Given the description of an element on the screen output the (x, y) to click on. 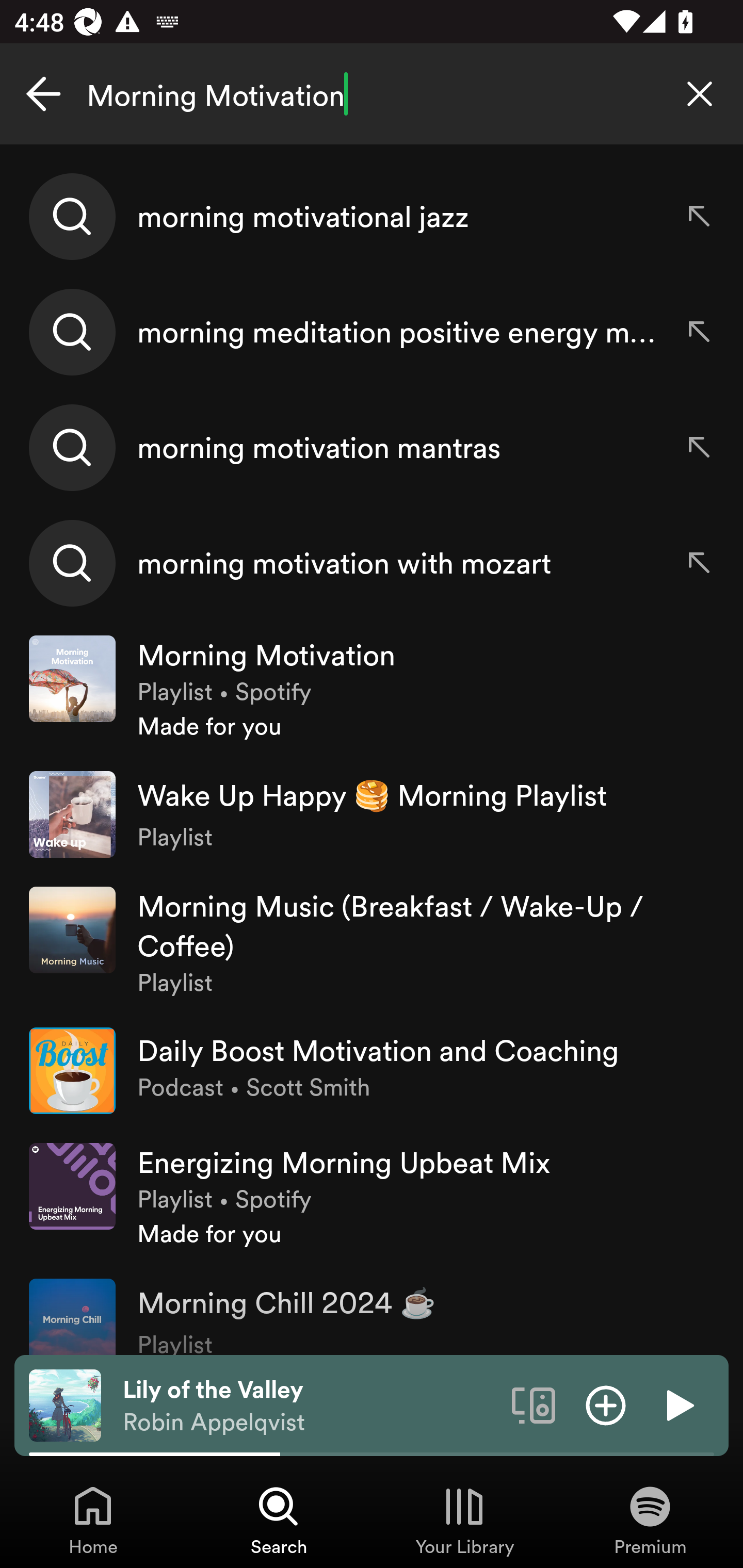
Morning Motivation (371, 93)
Cancel (43, 93)
Clear search query (699, 93)
morning motivational jazz (371, 216)
morning meditation positive energy music (371, 332)
morning motivation mantras (371, 447)
morning motivation with mozart (371, 562)
Morning Motivation Playlist • Spotify Made for you (371, 688)
Wake Up Happy 🥞 Morning Playlist Playlist (371, 814)
Morning Chill 2024 ☕️ Playlist (371, 1308)
Lily of the Valley Robin Appelqvist (309, 1405)
The cover art of the currently playing track (64, 1404)
Connect to a device. Opens the devices menu (533, 1404)
Add item (605, 1404)
Play (677, 1404)
Home, Tab 1 of 4 Home Home (92, 1519)
Search, Tab 2 of 4 Search Search (278, 1519)
Your Library, Tab 3 of 4 Your Library Your Library (464, 1519)
Premium, Tab 4 of 4 Premium Premium (650, 1519)
